Given the description of an element on the screen output the (x, y) to click on. 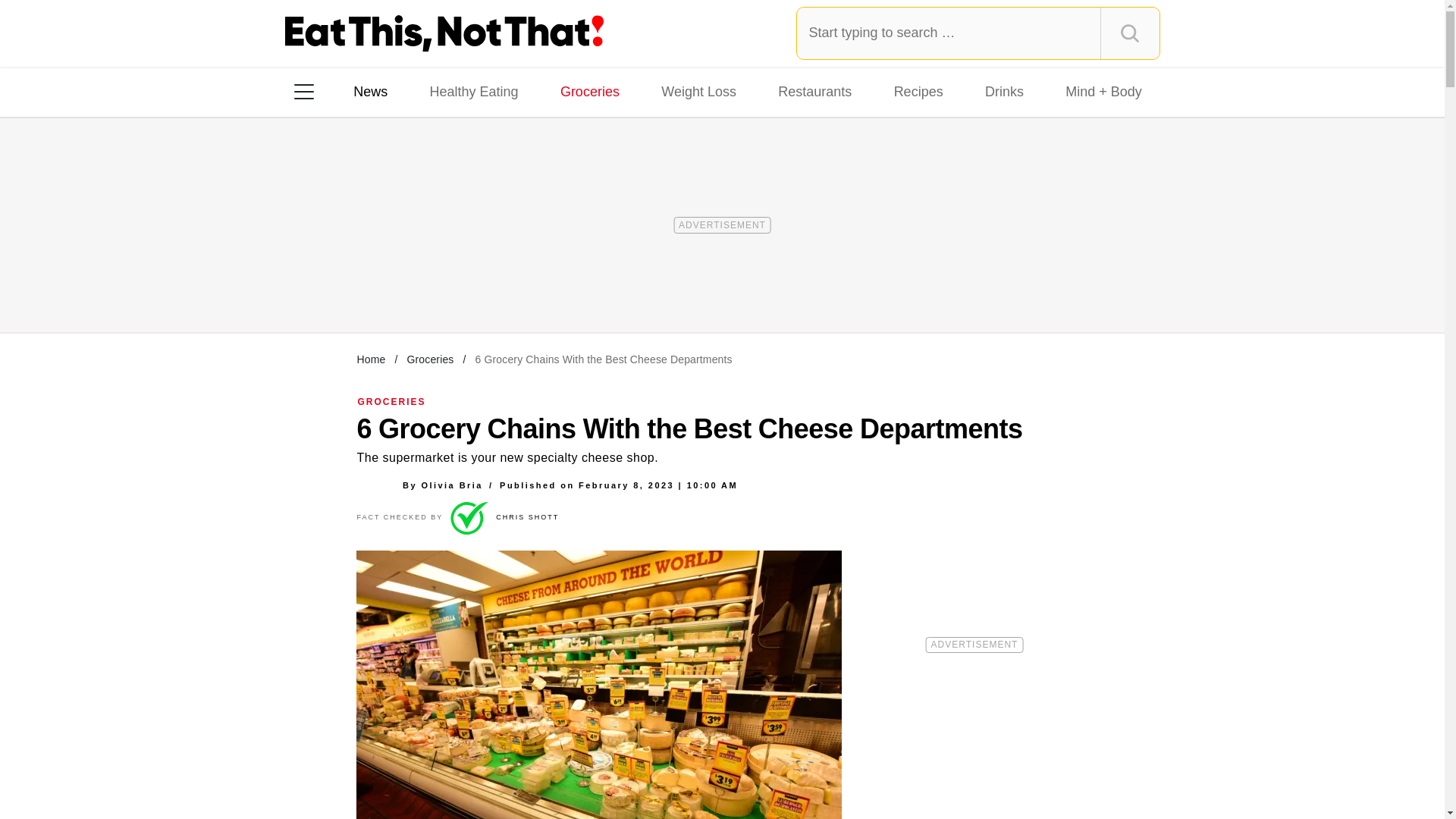
Weight Loss (698, 91)
Groceries (429, 358)
Facebook (314, 287)
Facebook (314, 287)
Instagram (357, 287)
TikTok (399, 287)
Posts by Olivia Bria (450, 484)
Olivia Bria (450, 484)
Home (370, 358)
Instagram (357, 287)
